Given the description of an element on the screen output the (x, y) to click on. 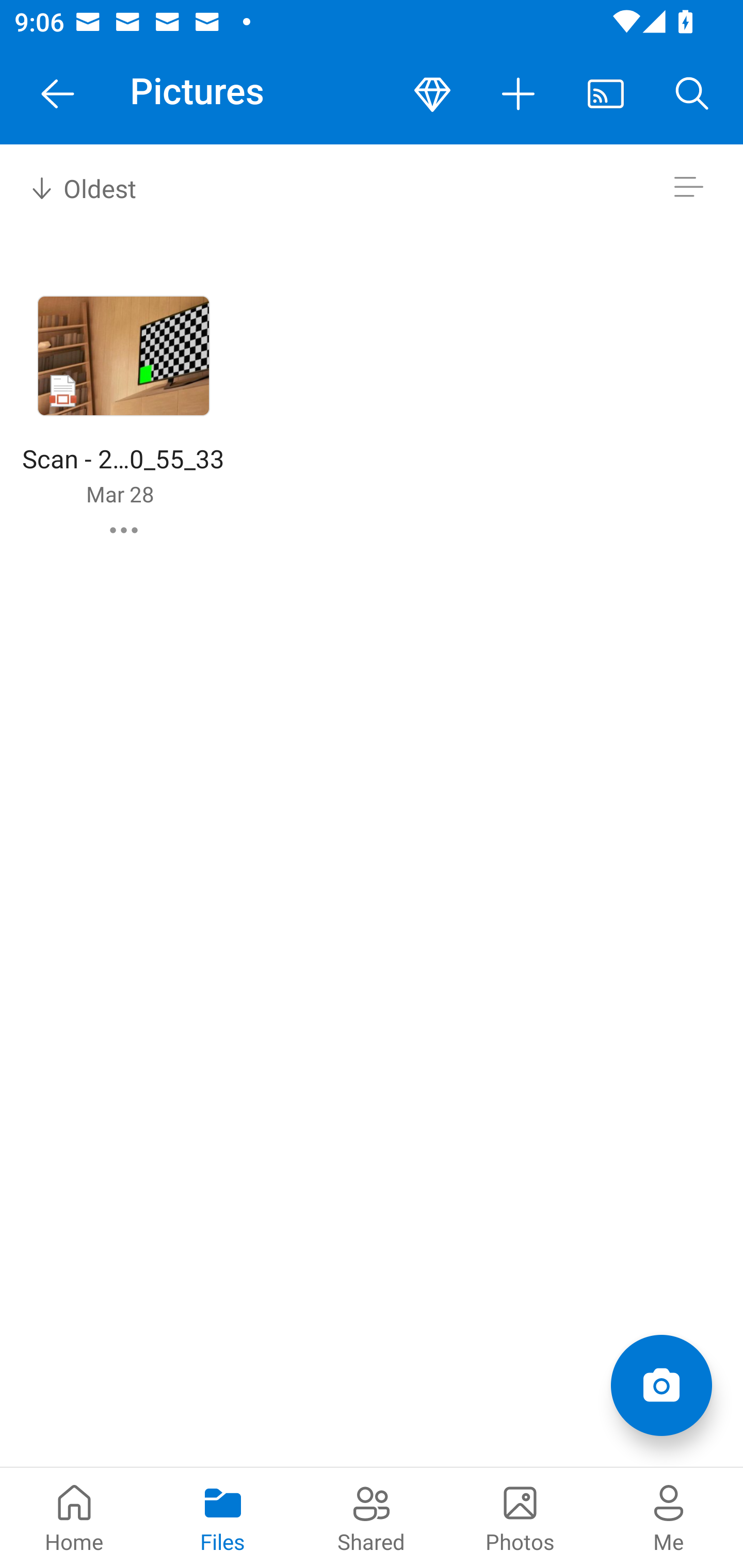
Navigate Up (57, 93)
Cast. Disconnected (605, 93)
Premium button (432, 93)
More actions button (518, 93)
Search button (692, 93)
Oldest Sort by combo box, sort by oldest (80, 187)
Switch to list view (688, 187)
Mar 28 (120, 493)
Scan - 2024-03-28 10_55_33 commands (123, 529)
Add items Scan (660, 1385)
Home pivot Home (74, 1517)
Shared pivot Shared (371, 1517)
Photos pivot Photos (519, 1517)
Me pivot Me (668, 1517)
